Given the description of an element on the screen output the (x, y) to click on. 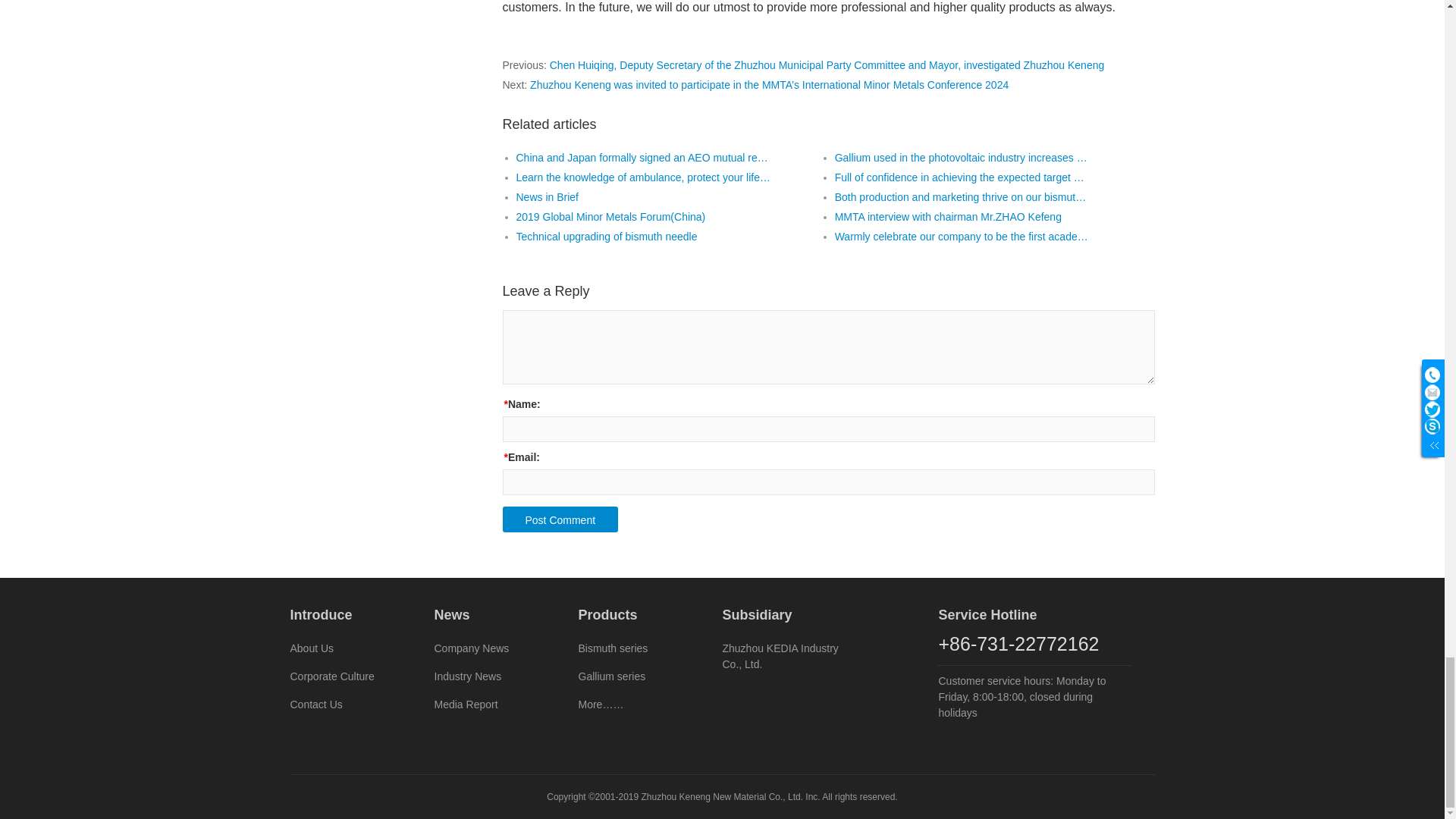
Technical upgrading of bismuth needle (606, 236)
News in Brief (546, 197)
Post Comment (559, 519)
MMTA interview with chairman Mr.ZHAO Kefeng (947, 216)
